Given the description of an element on the screen output the (x, y) to click on. 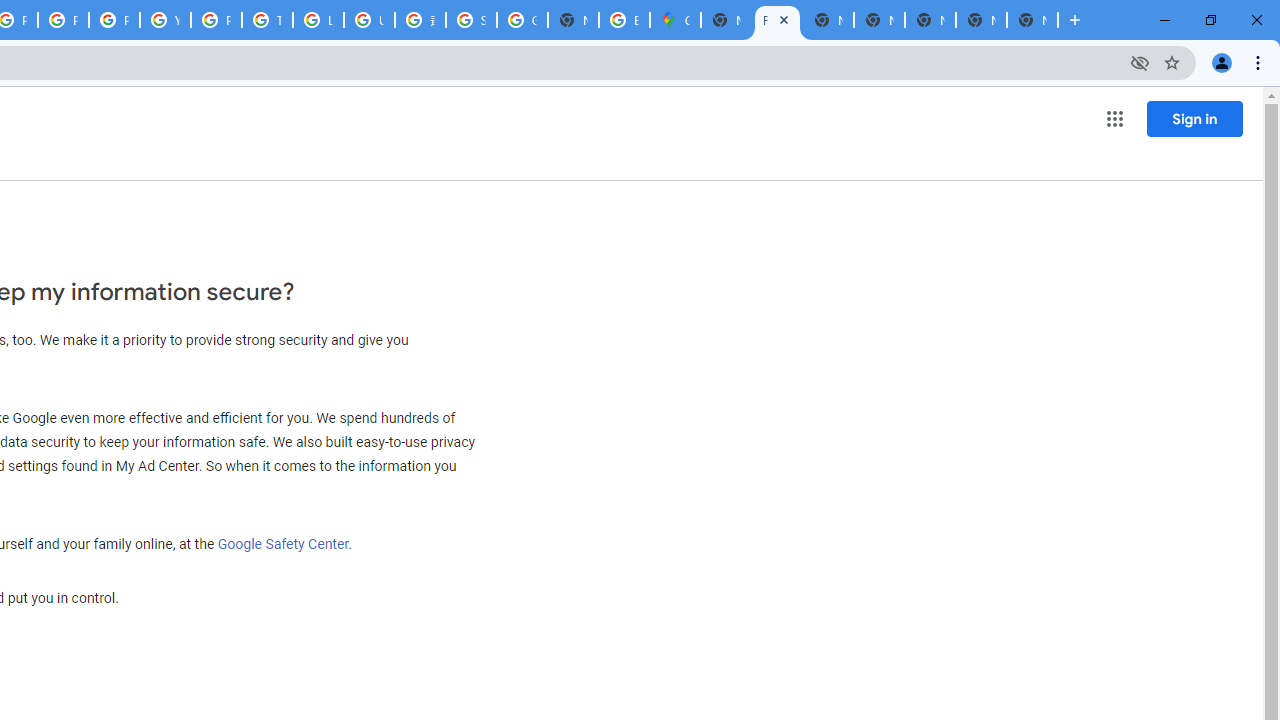
Explore new street-level details - Google Maps Help (624, 20)
New Tab (1032, 20)
Google Maps (675, 20)
Google Safety Center (283, 543)
Privacy Help Center - Policies Help (63, 20)
